Given the description of an element on the screen output the (x, y) to click on. 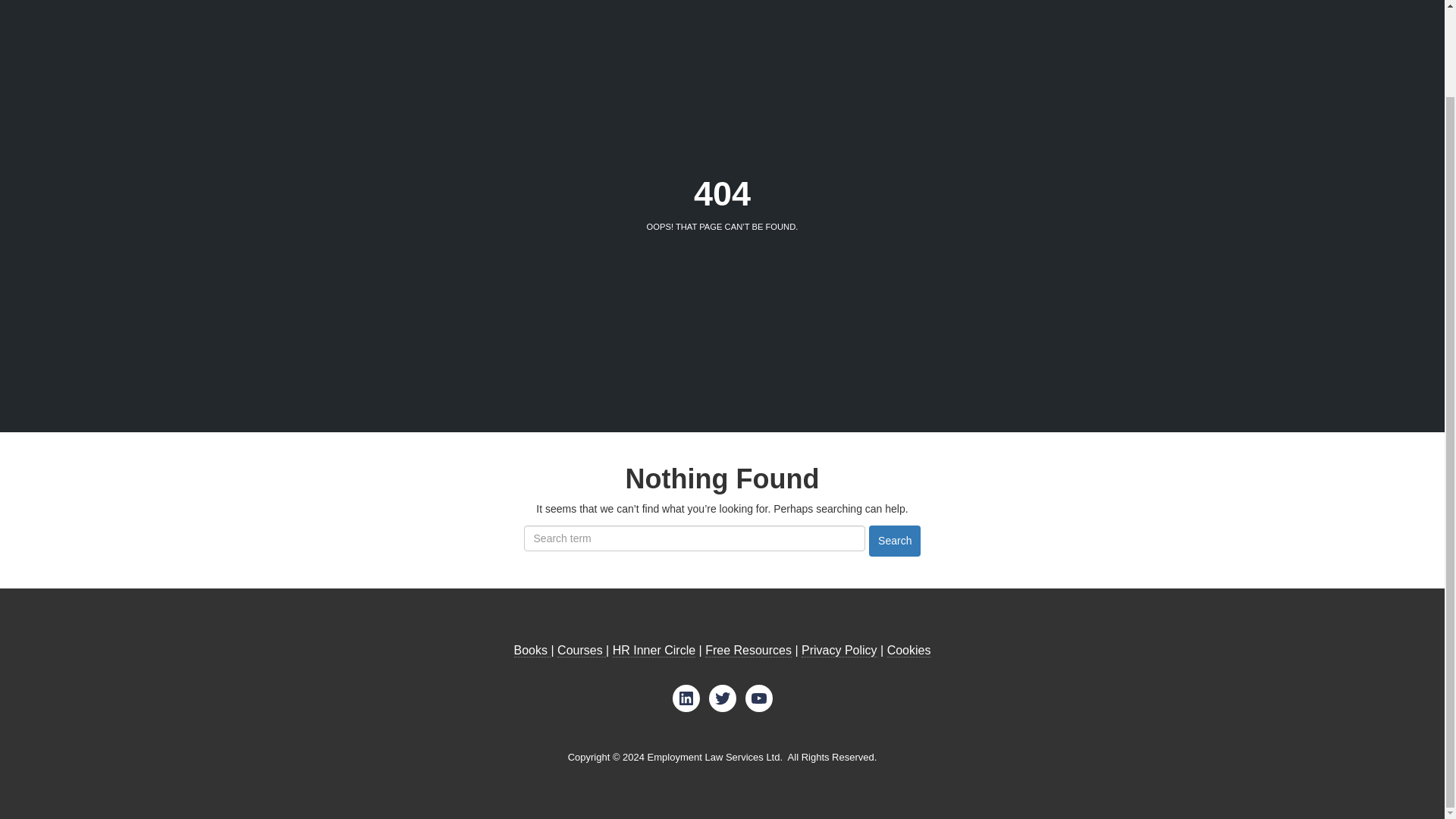
HR Inner Circle (653, 650)
LinkedIn (684, 697)
Courses (581, 650)
Free Resources (748, 650)
Search (894, 540)
Cookies (908, 650)
Books (532, 650)
Privacy Policy (839, 650)
Twitter (721, 697)
YouTube (757, 697)
